Given the description of an element on the screen output the (x, y) to click on. 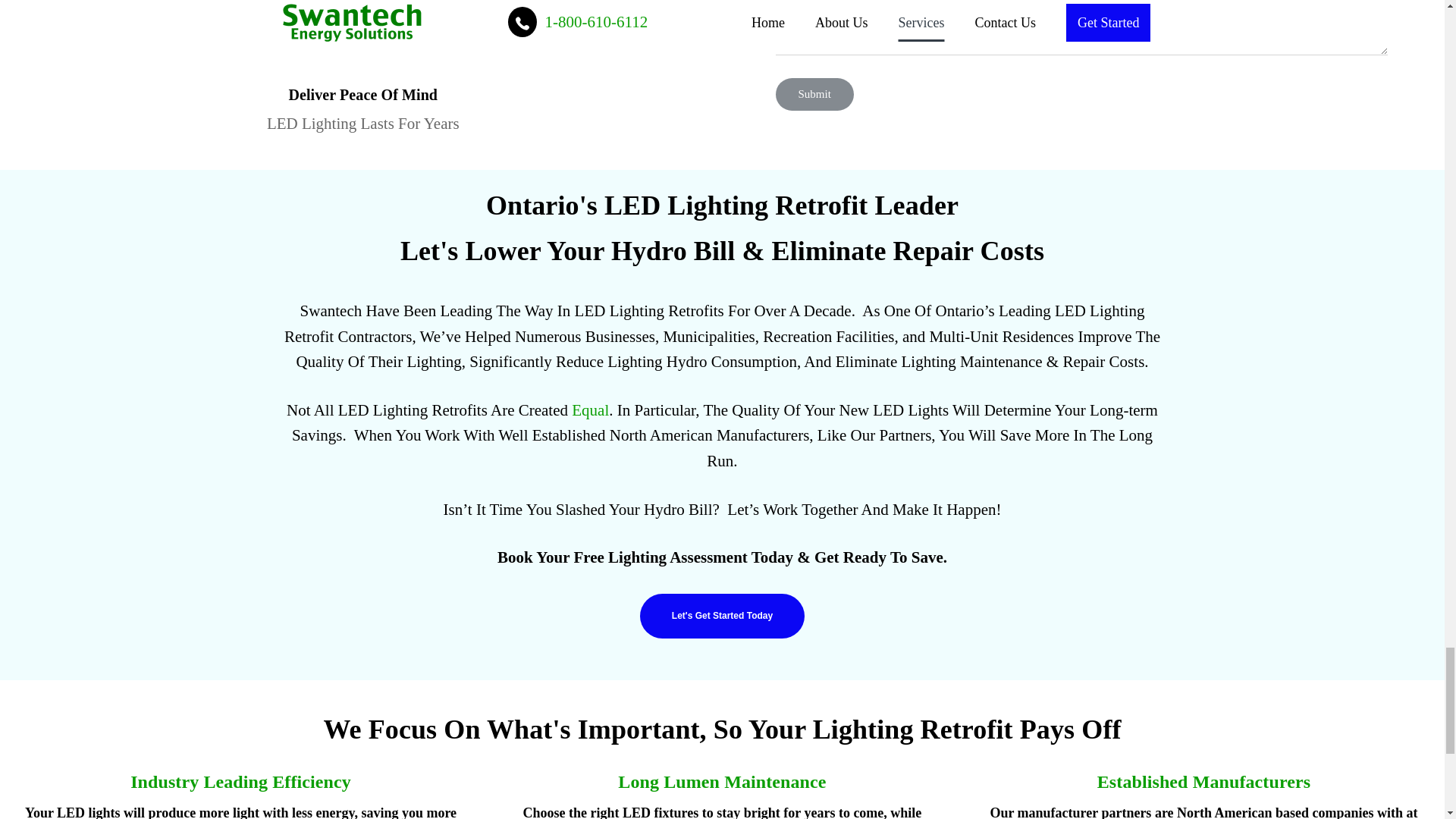
Submit (813, 93)
